Given the description of an element on the screen output the (x, y) to click on. 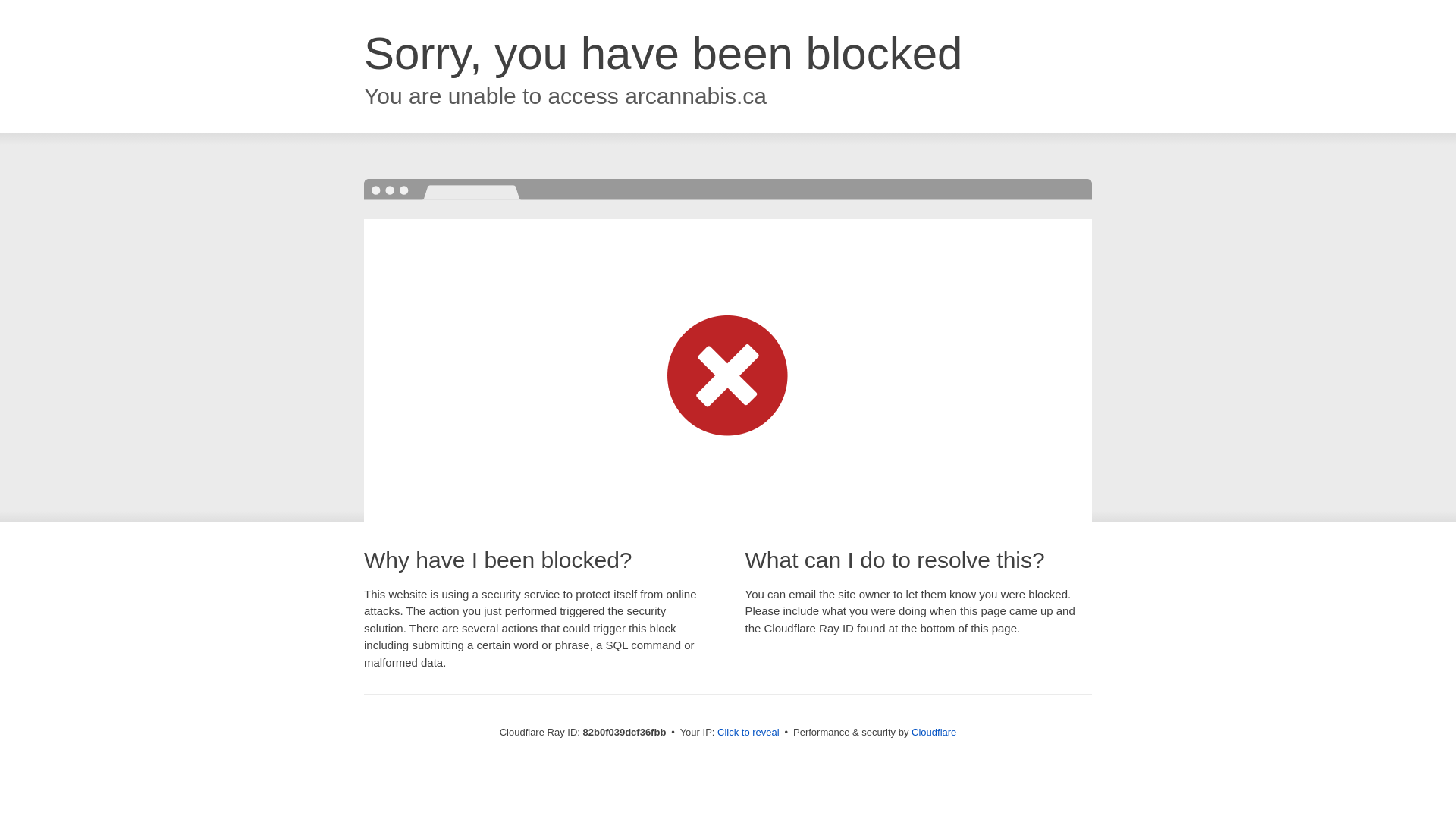
Cloudflare Element type: text (933, 731)
Click to reveal Element type: text (748, 732)
